Given the description of an element on the screen output the (x, y) to click on. 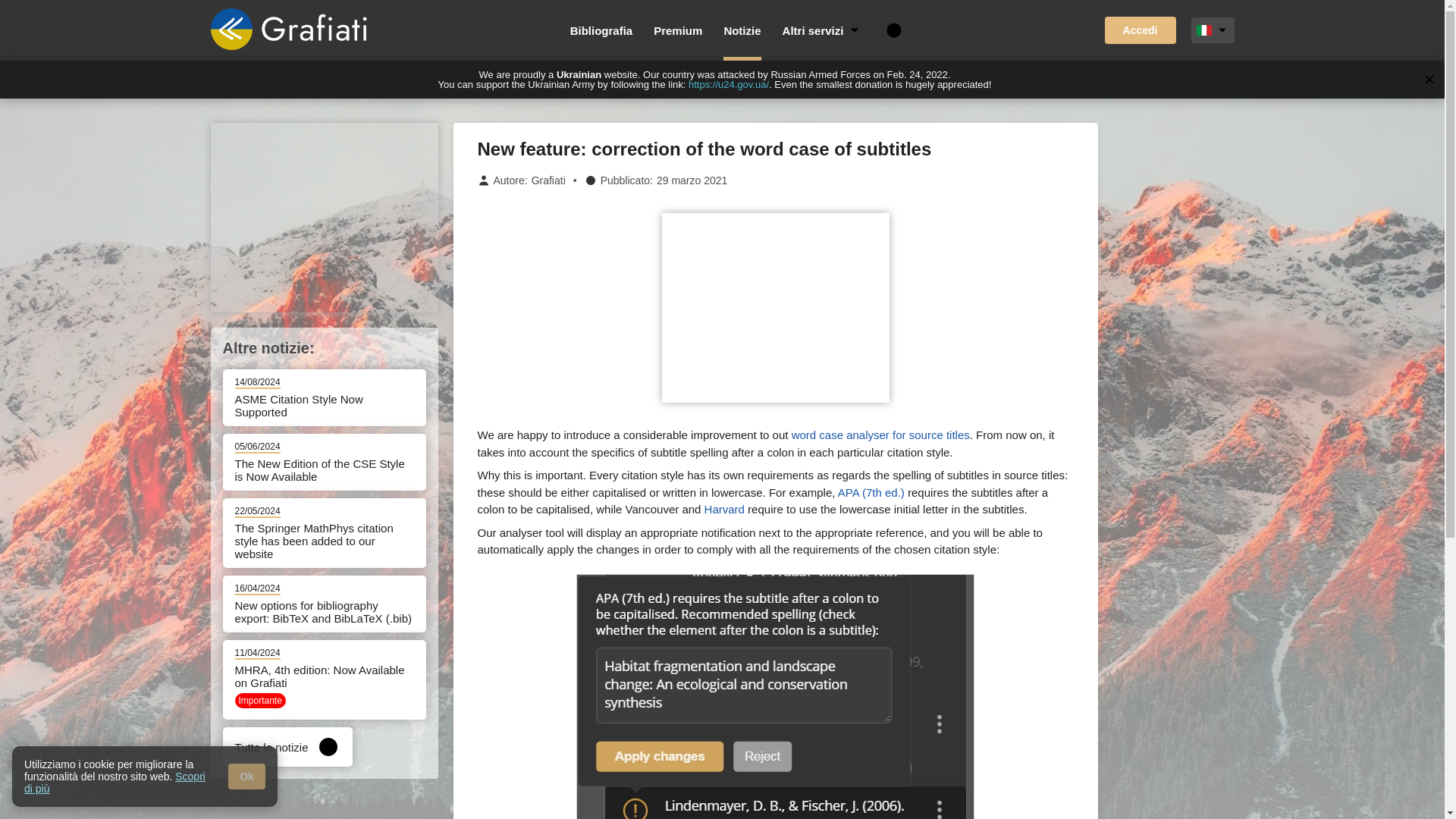
Accedi (1140, 30)
Altri servizi (823, 30)
Advertisement (324, 217)
Advertisement (774, 307)
Bibliografia (601, 30)
Italiano (1203, 30)
Grafiati (548, 180)
